Given the description of an element on the screen output the (x, y) to click on. 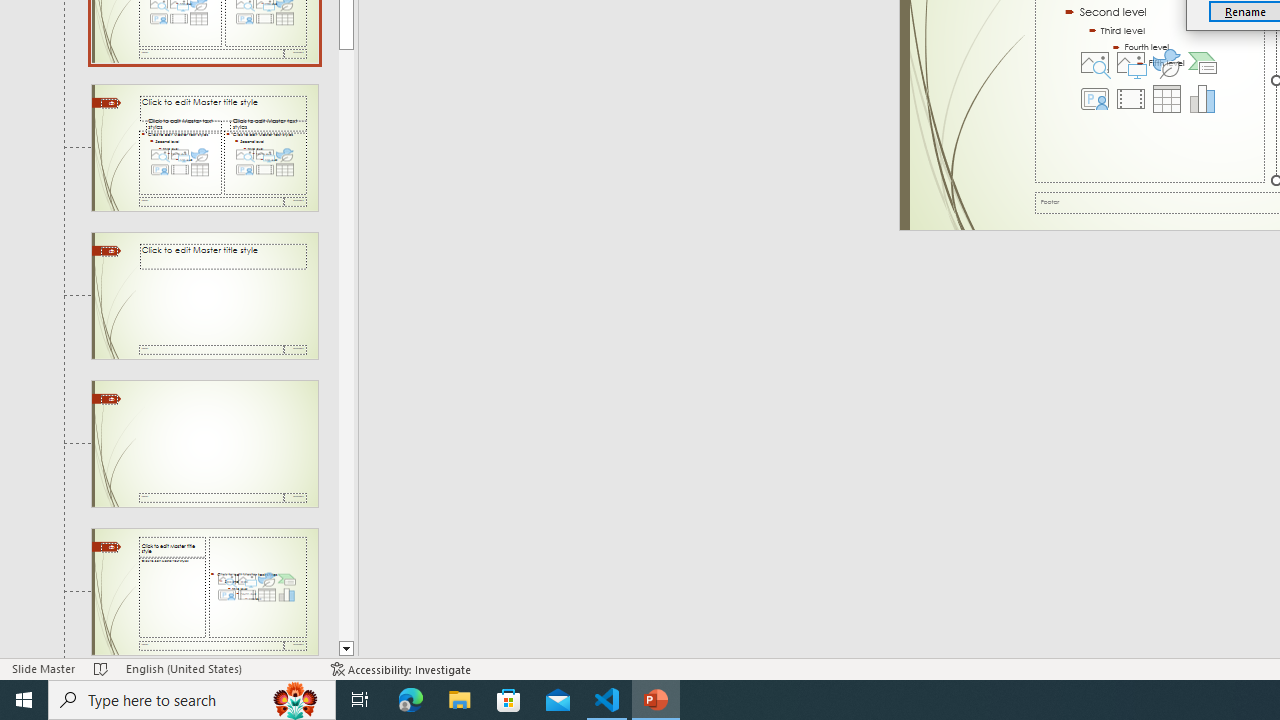
Insert Cameo (1095, 98)
Slide Comparison Layout: used by no slides (204, 296)
Insert Chart (1202, 98)
Stock Images (1095, 62)
Slide Two Content Layout: used by no slides (204, 147)
Insert Table (1166, 98)
Insert an Icon (1166, 62)
